Given the description of an element on the screen output the (x, y) to click on. 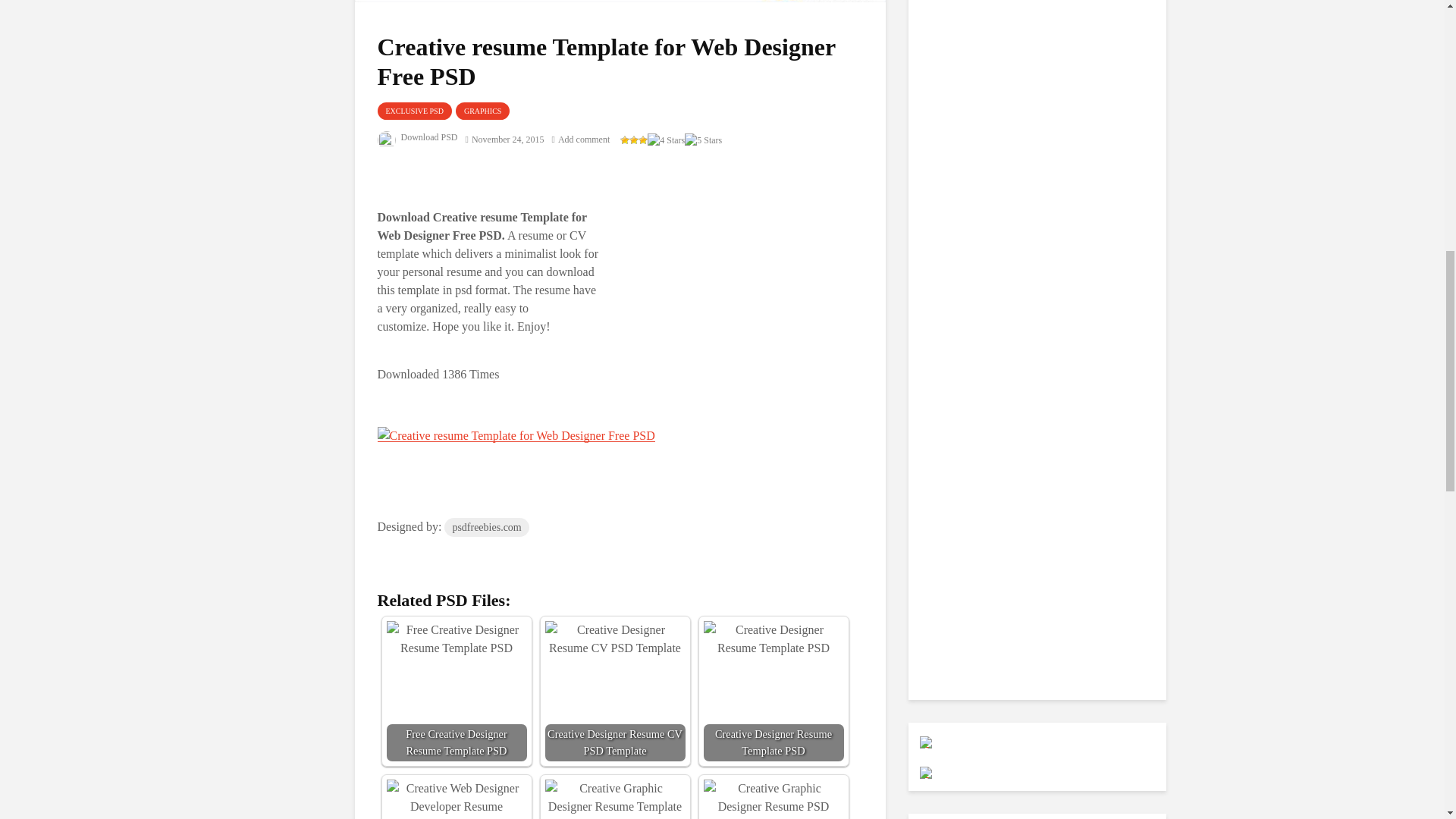
2 Stars (633, 139)
Creative resume Template for Web Designer Free PSD (516, 435)
Creative Web Designer Developer Resume Template PSD (457, 799)
3 Stars (643, 139)
Creative Graphic Designer Resume Template PSD (614, 799)
Creative Designer Resume CV PSD Template (614, 638)
5 Stars (703, 140)
Free Creative Designer Resume Template PSD (457, 638)
4 Stars (665, 140)
1 Star (624, 139)
Creative Graphic Designer Resume PSD Template (773, 799)
Creative Designer Resume Template PSD (773, 638)
